Given the description of an element on the screen output the (x, y) to click on. 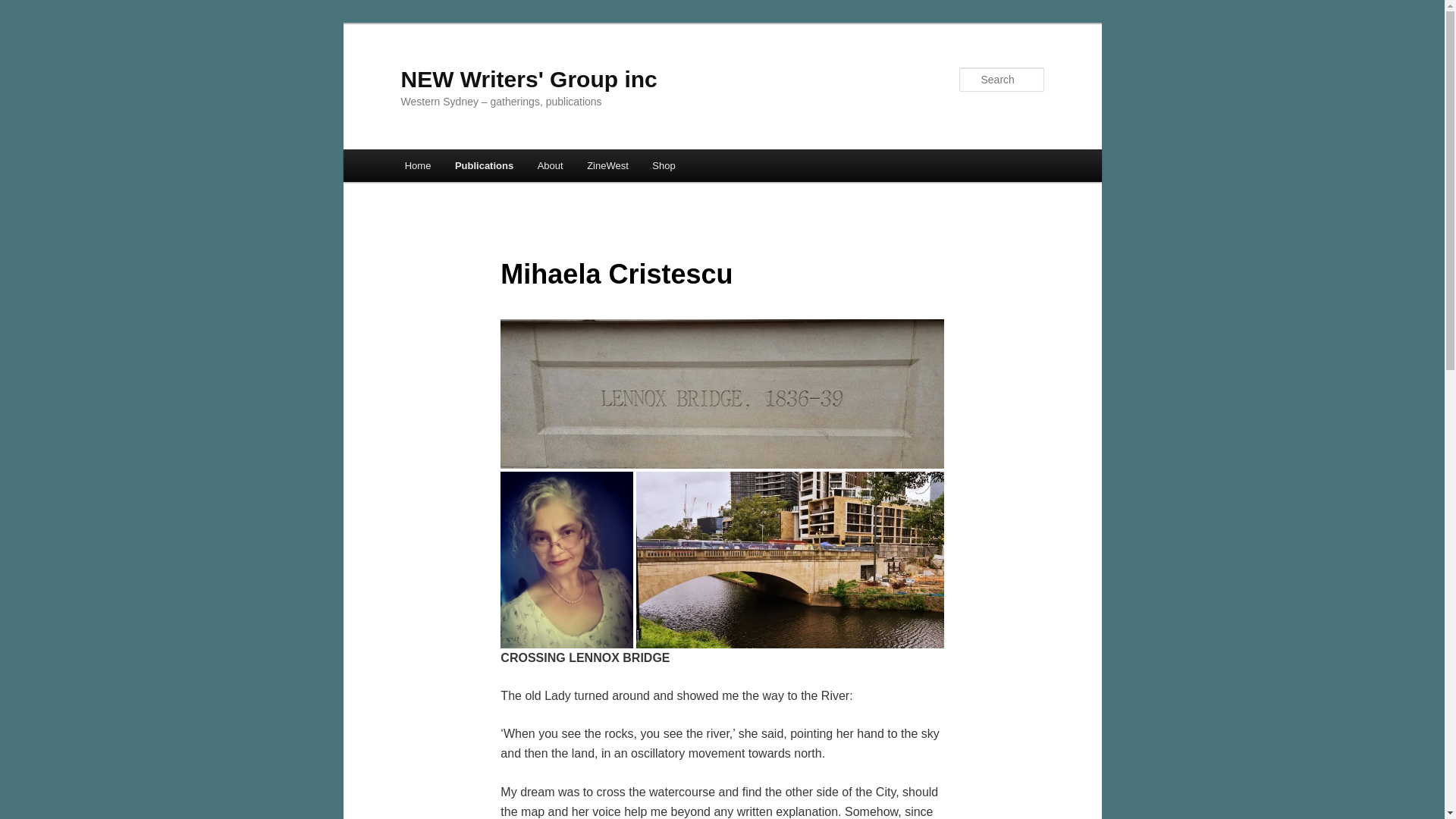
NEW Writers' Group inc (528, 78)
Search (24, 8)
Home (417, 165)
Publications (483, 165)
